Given the description of an element on the screen output the (x, y) to click on. 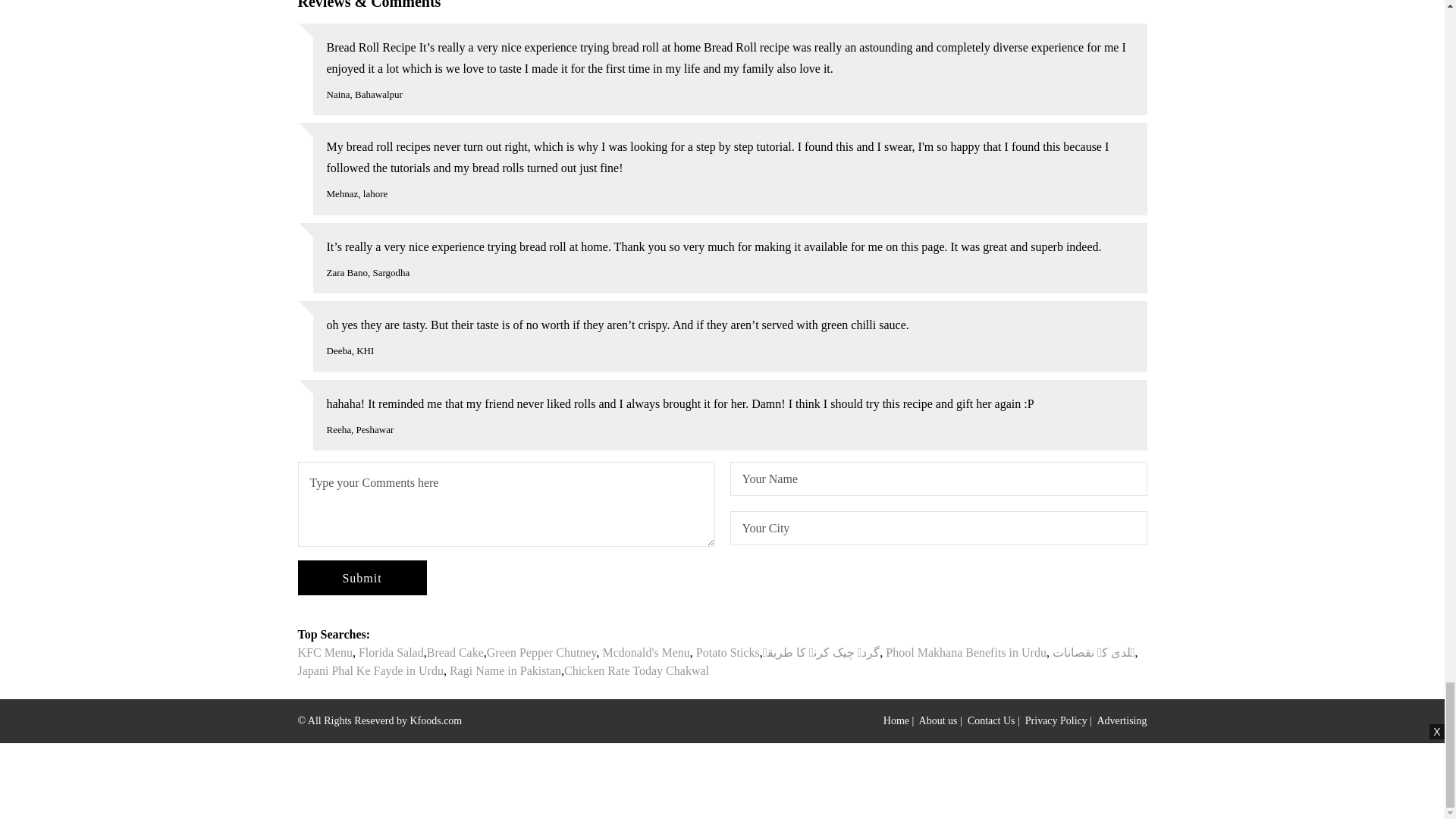
Florida Salad (390, 652)
Japani Phal Ke Fayde in Urdu (369, 670)
Bread Cake (454, 652)
Submit (361, 577)
Submit (361, 577)
Ragi Name in Pakistan (504, 670)
Mcdonald's Menu (645, 652)
Bread Cake (454, 652)
Green Pepper Chutney (541, 652)
Florida Salad  (390, 652)
Phool Makhana Benefits in Urdu (965, 652)
Potato Sticks (727, 652)
KFC Menu (324, 652)
 Chicken Rate Today Chakwal (636, 670)
Green Pepper Chutney (541, 652)
